Given the description of an element on the screen output the (x, y) to click on. 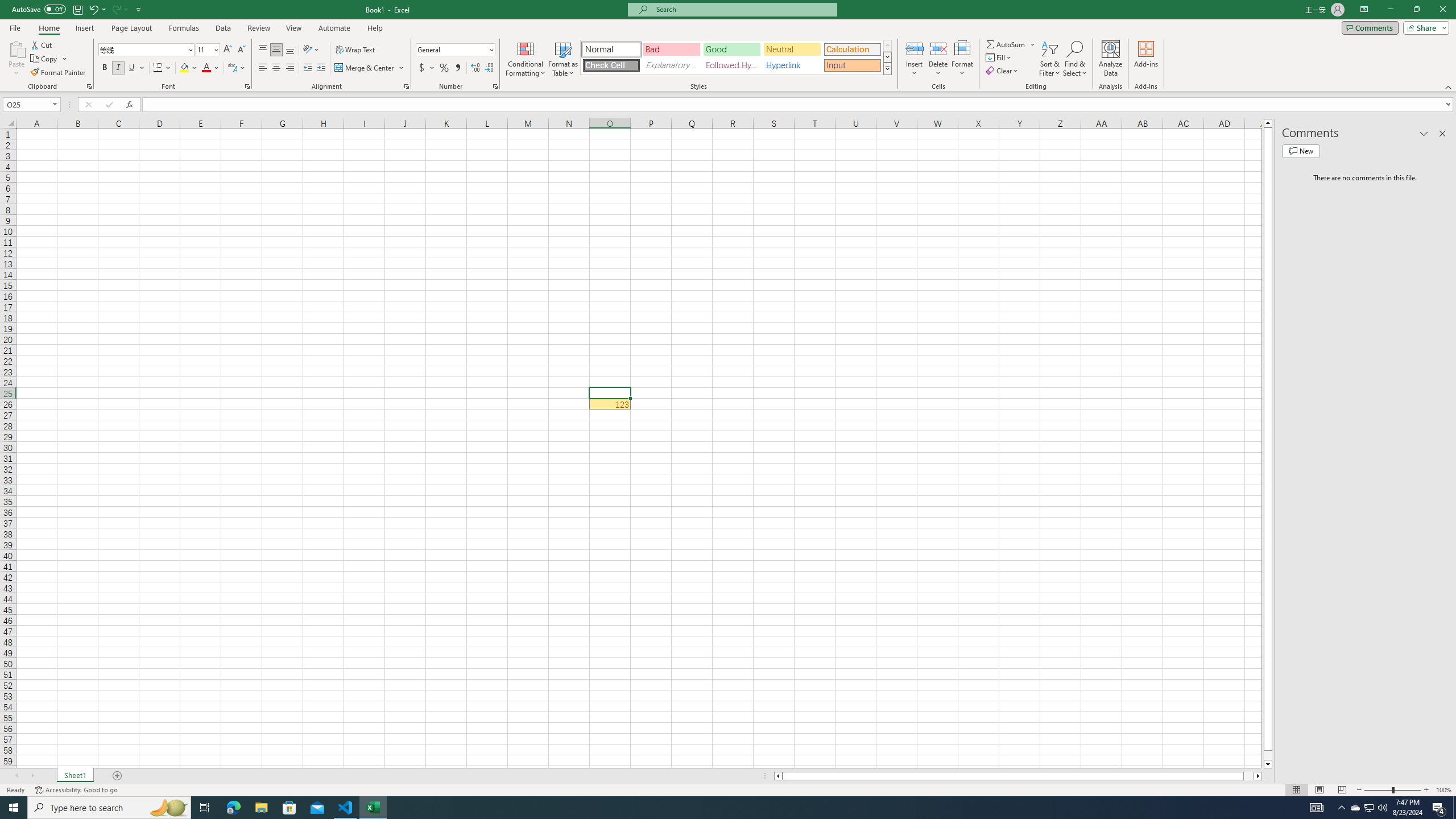
Increase Decimal (474, 67)
